Given the description of an element on the screen output the (x, y) to click on. 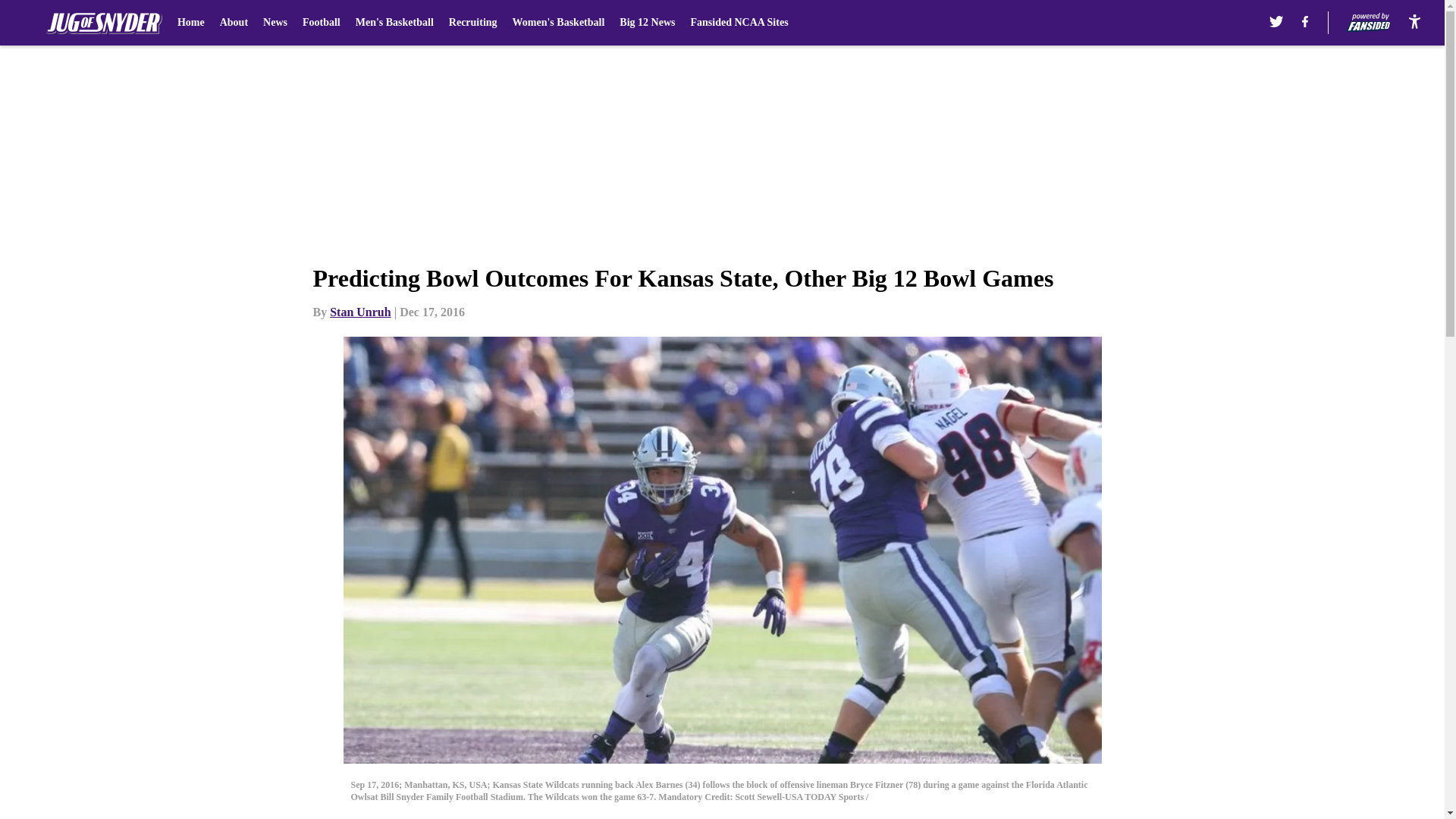
Stan Unruh (360, 311)
Big 12 News (647, 22)
Home (191, 22)
Football (321, 22)
Recruiting (472, 22)
Fansided NCAA Sites (738, 22)
About (233, 22)
Women's Basketball (558, 22)
Men's Basketball (394, 22)
News (274, 22)
